Given the description of an element on the screen output the (x, y) to click on. 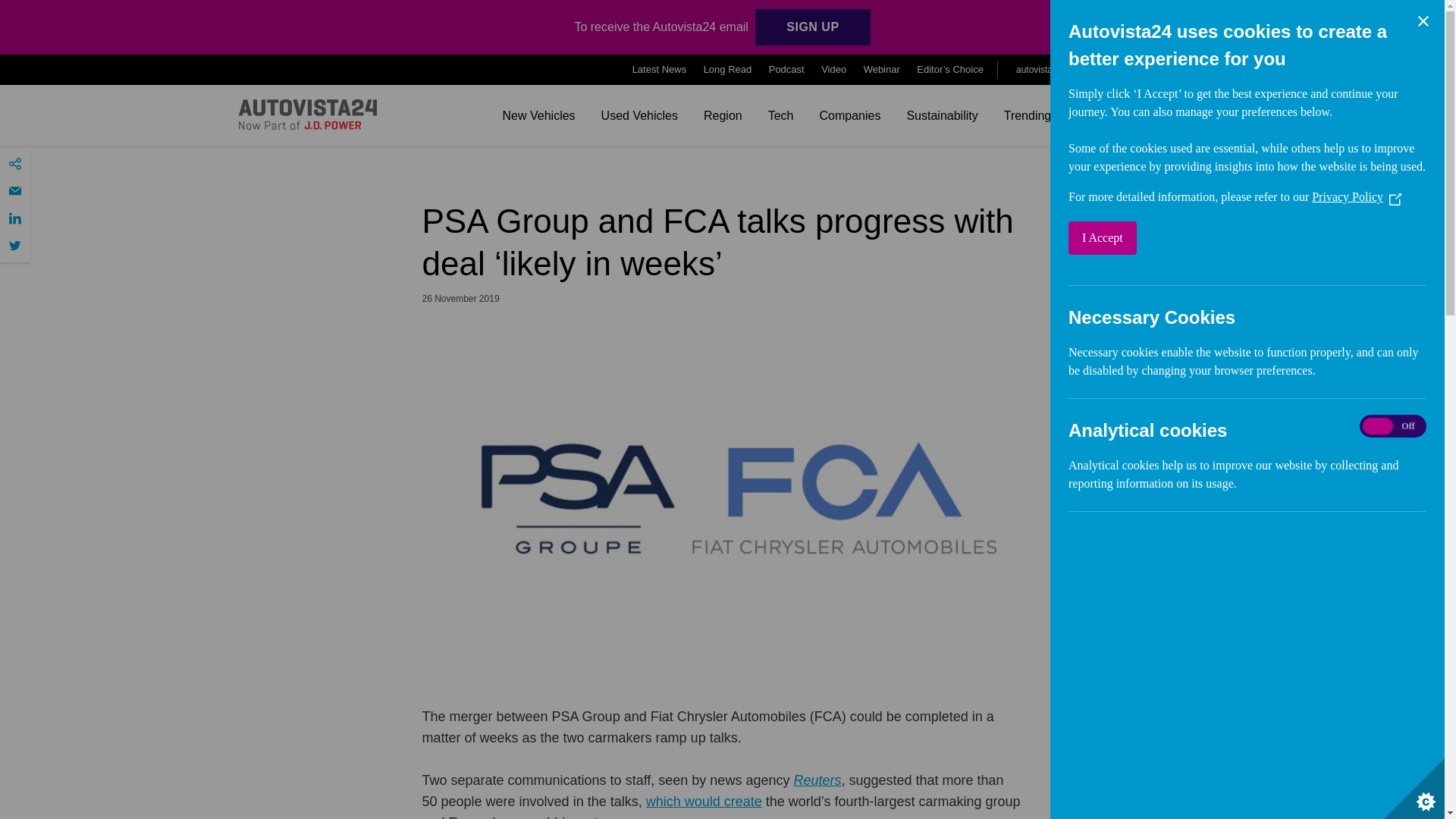
I Accept (1165, 237)
Video (833, 69)
SIGN UP (812, 27)
autovistagroup.com (1060, 69)
Long Read (727, 69)
Webinar (881, 69)
Latest News (659, 69)
Podcast (786, 69)
Products (1173, 69)
